Given the description of an element on the screen output the (x, y) to click on. 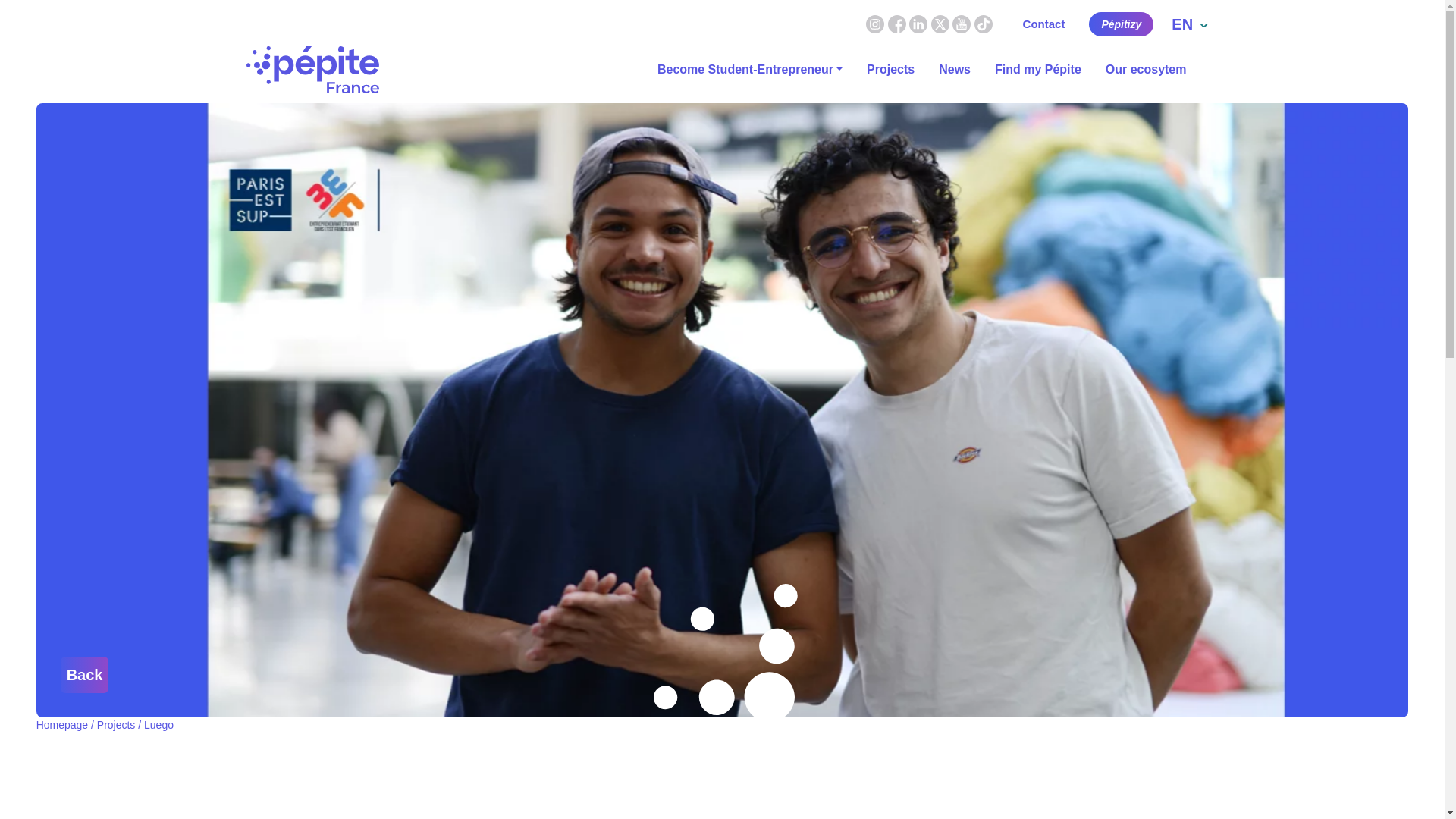
Lien vers Instagram (874, 23)
Homepage (62, 732)
Projects (890, 69)
Become Student-Entrepreneur (749, 69)
Become Student-Entrepreneur (749, 69)
Lien vers Youtube (961, 23)
Projects (116, 732)
Switch to EN (1189, 23)
News (954, 69)
EN (1189, 23)
Projects (890, 69)
Lien vers Facebook (898, 23)
Contact (1044, 24)
Contact (1044, 24)
Lien vers Tiktok (983, 23)
